Given the description of an element on the screen output the (x, y) to click on. 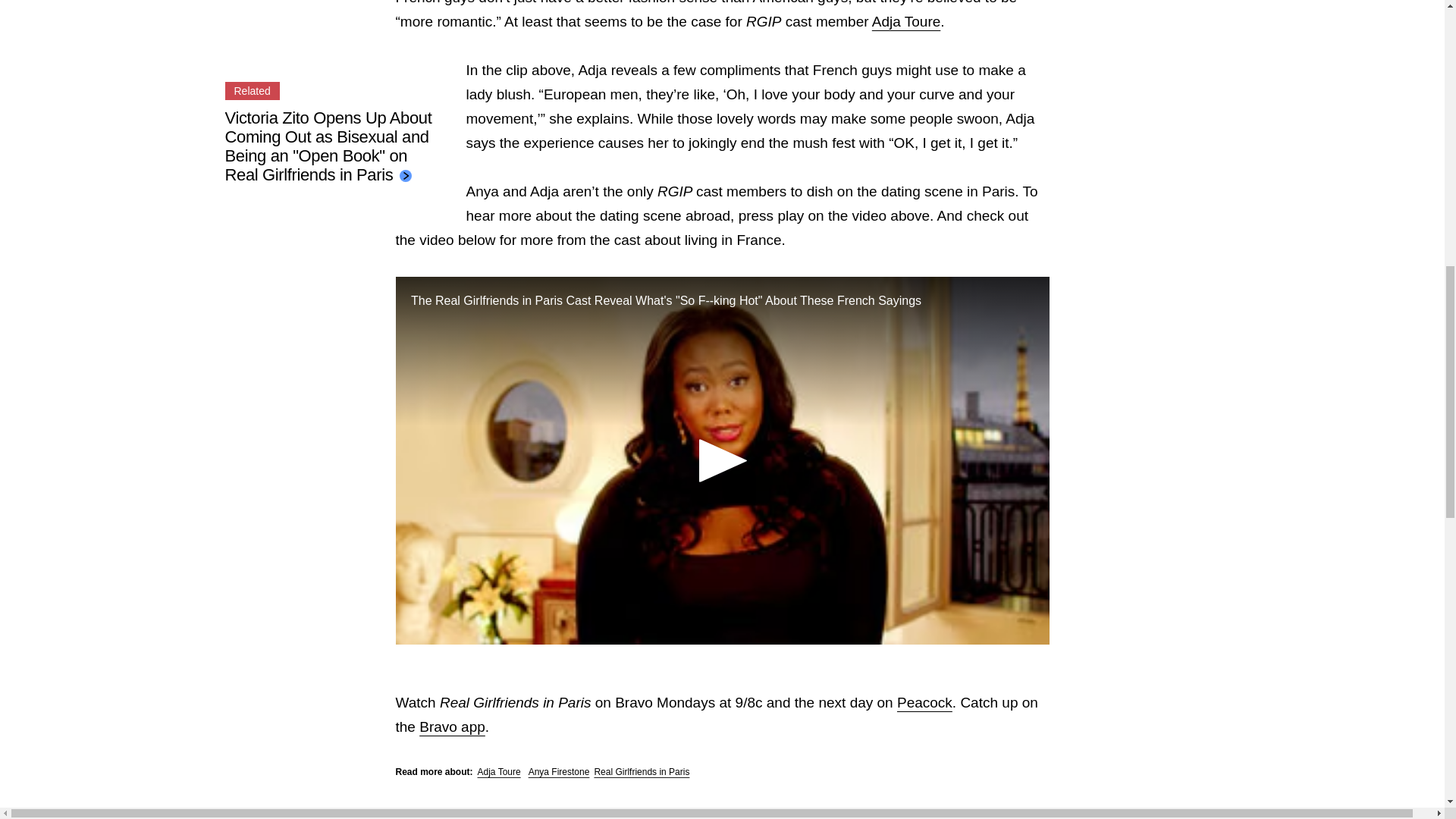
Bravo app (451, 726)
Adja Toure (906, 21)
Peacock (924, 702)
Adja Toure (499, 771)
Real Girlfriends in Paris (641, 771)
Anya Firestone (558, 771)
Adja Toure (906, 21)
